Given the description of an element on the screen output the (x, y) to click on. 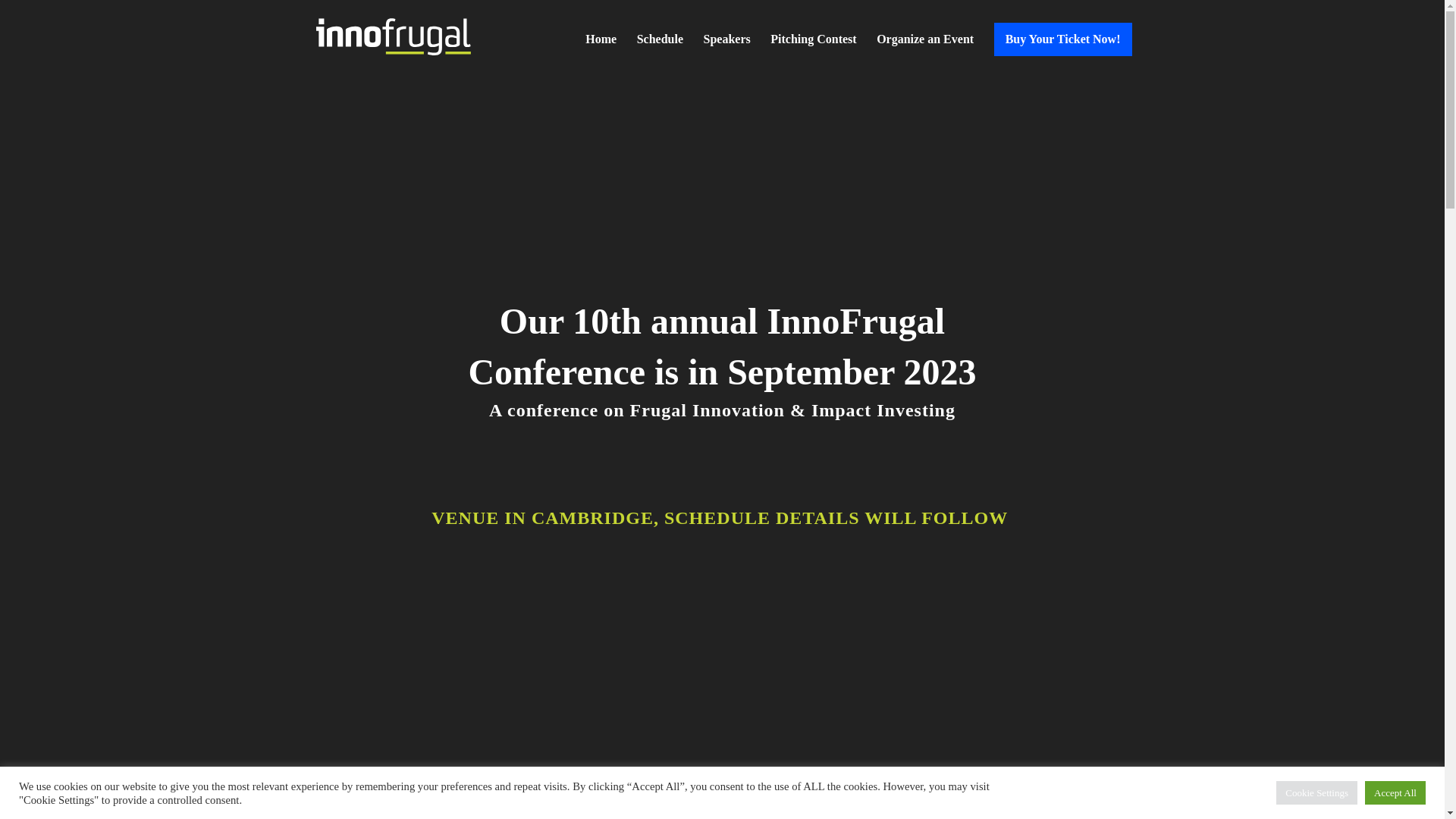
Organize an Event (925, 50)
Speakers (727, 50)
Schedule (659, 50)
Cookie Settings (1316, 792)
Buy Your Ticket Now! (1063, 39)
Accept All (1395, 792)
Home (600, 50)
Pitching Contest (813, 50)
